Given the description of an element on the screen output the (x, y) to click on. 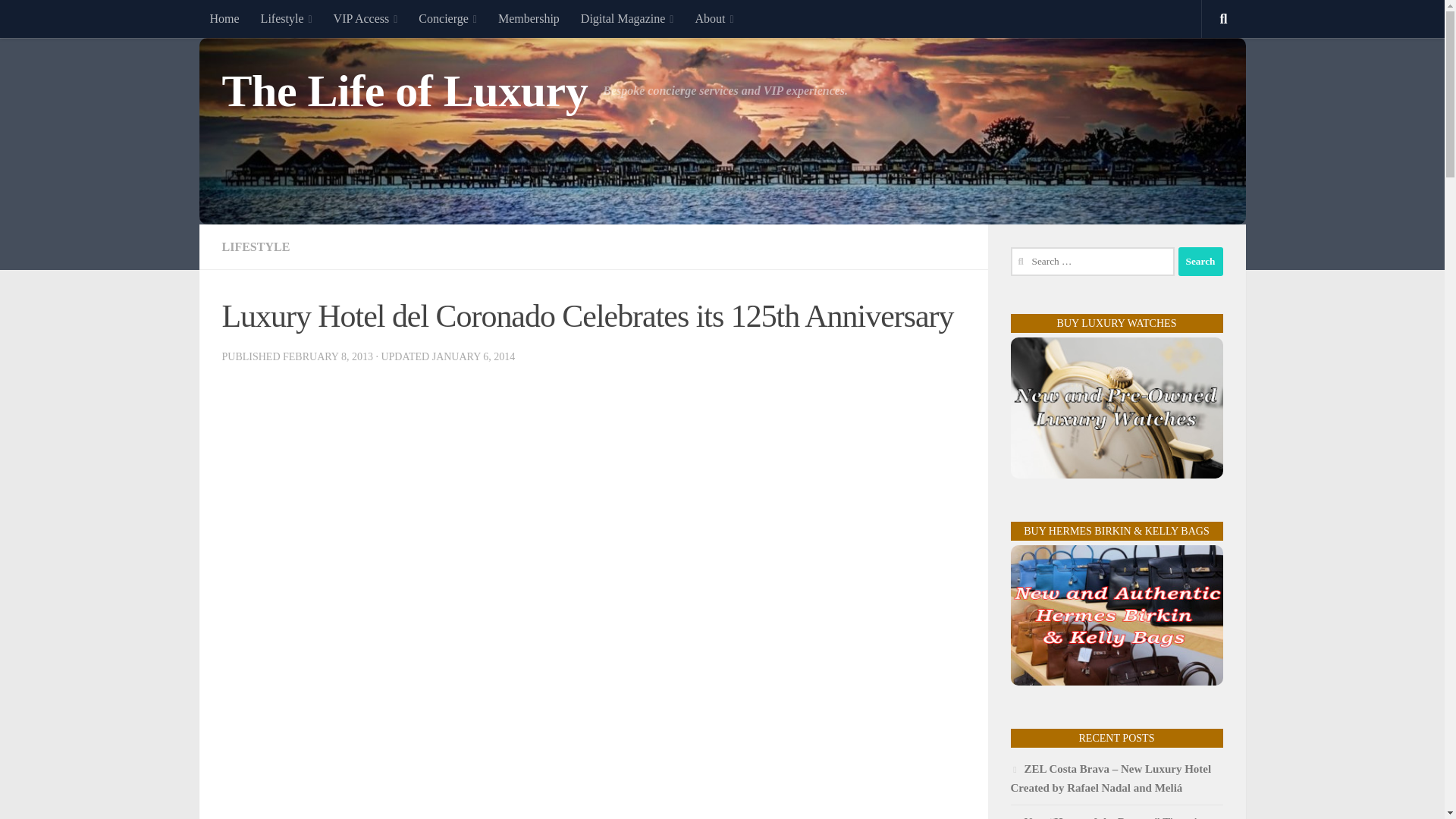
Skip to content (59, 20)
Search (1200, 261)
Search (1200, 261)
